Given the description of an element on the screen output the (x, y) to click on. 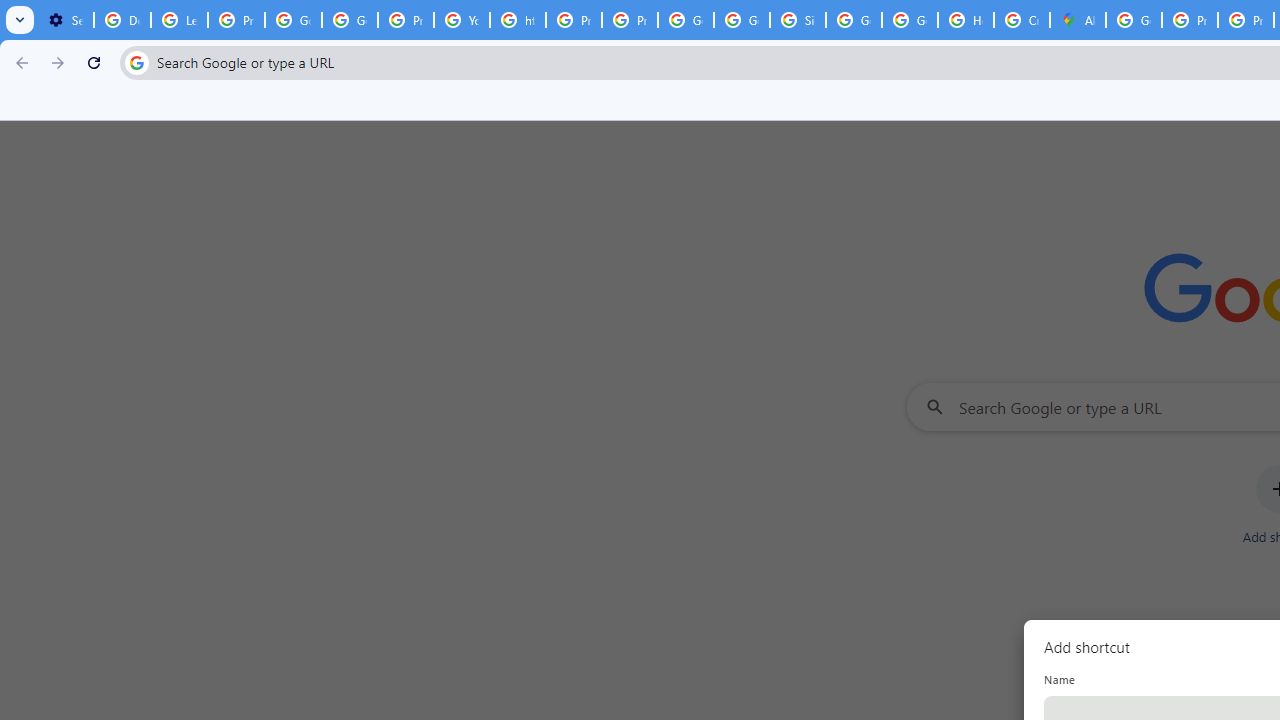
Privacy Help Center - Policies Help (1190, 20)
Create your Google Account (1021, 20)
YouTube (461, 20)
